Given the description of an element on the screen output the (x, y) to click on. 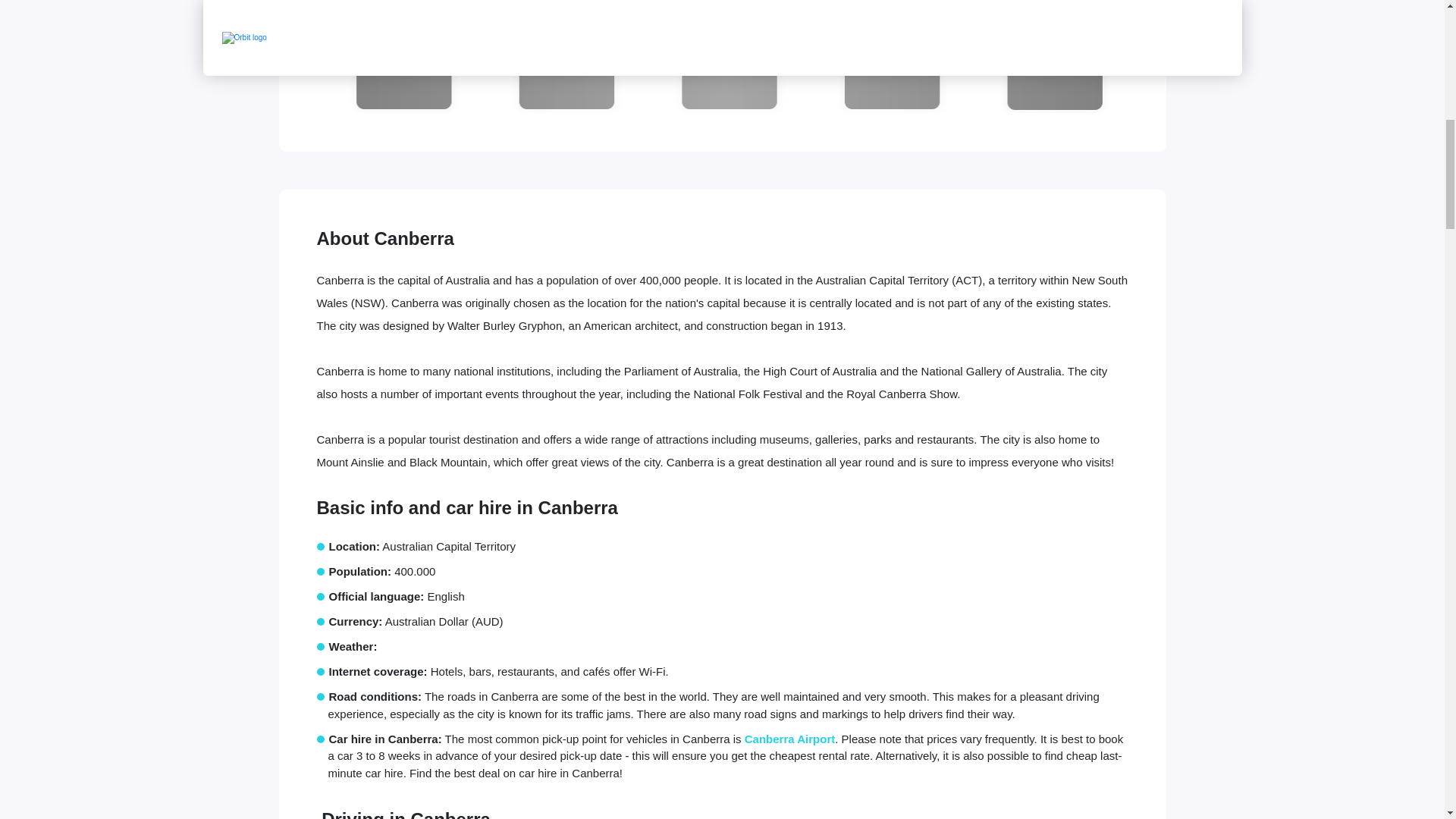
Car hire at Canberra Airport (789, 738)
